Given the description of an element on the screen output the (x, y) to click on. 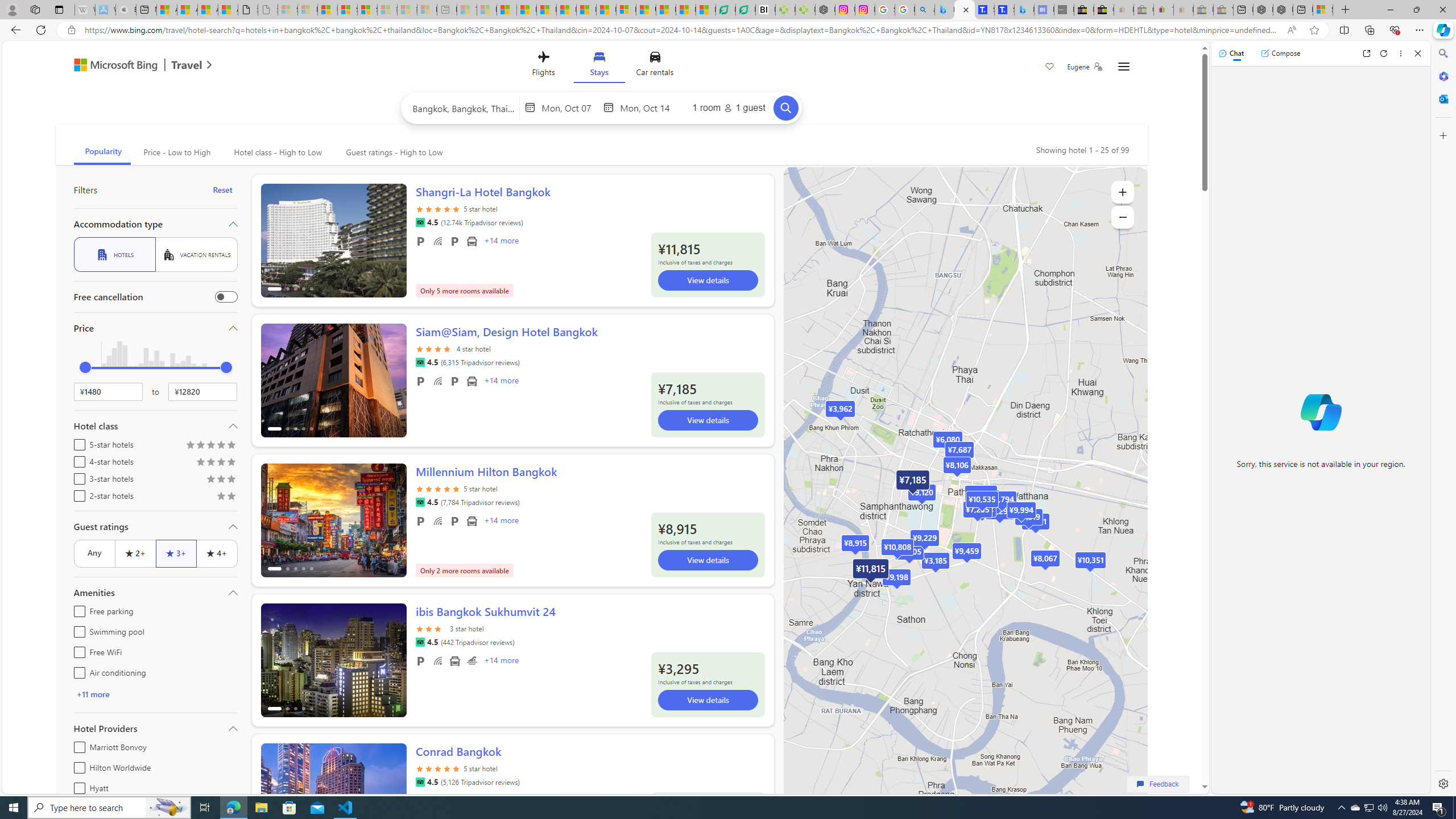
Nvidia va a poner a prueba la paciencia de los inversores (765, 9)
Hyatt (76, 786)
Microsoft Bing Travel - Shangri-La Hotel Bangkok (1024, 9)
Threats and offensive language policy | eBay (1162, 9)
Zoom in (1122, 191)
Microsoft Bing Travel (130, 65)
Amenities (154, 592)
